Given the description of an element on the screen output the (x, y) to click on. 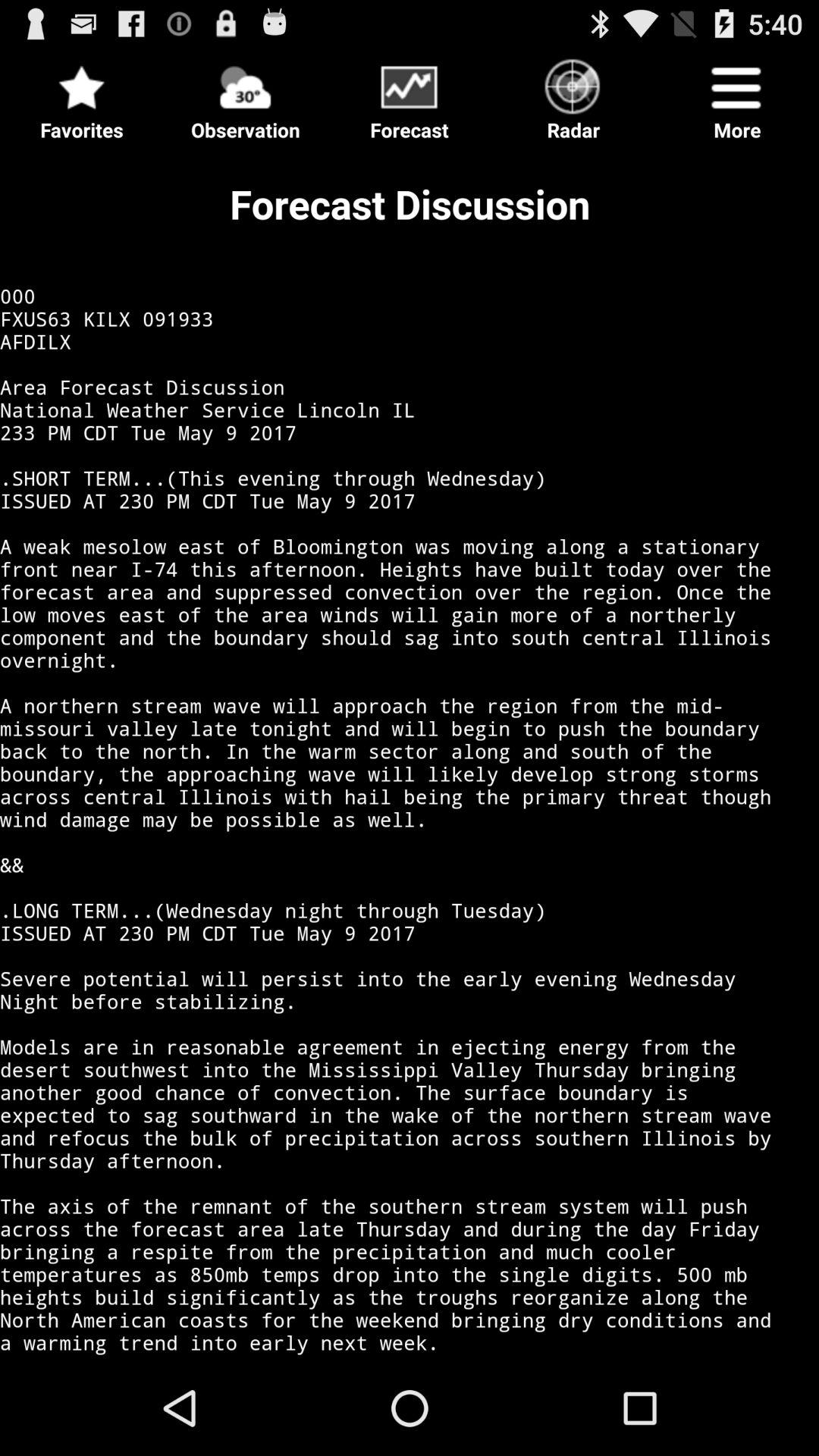
information page (409, 753)
